Given the description of an element on the screen output the (x, y) to click on. 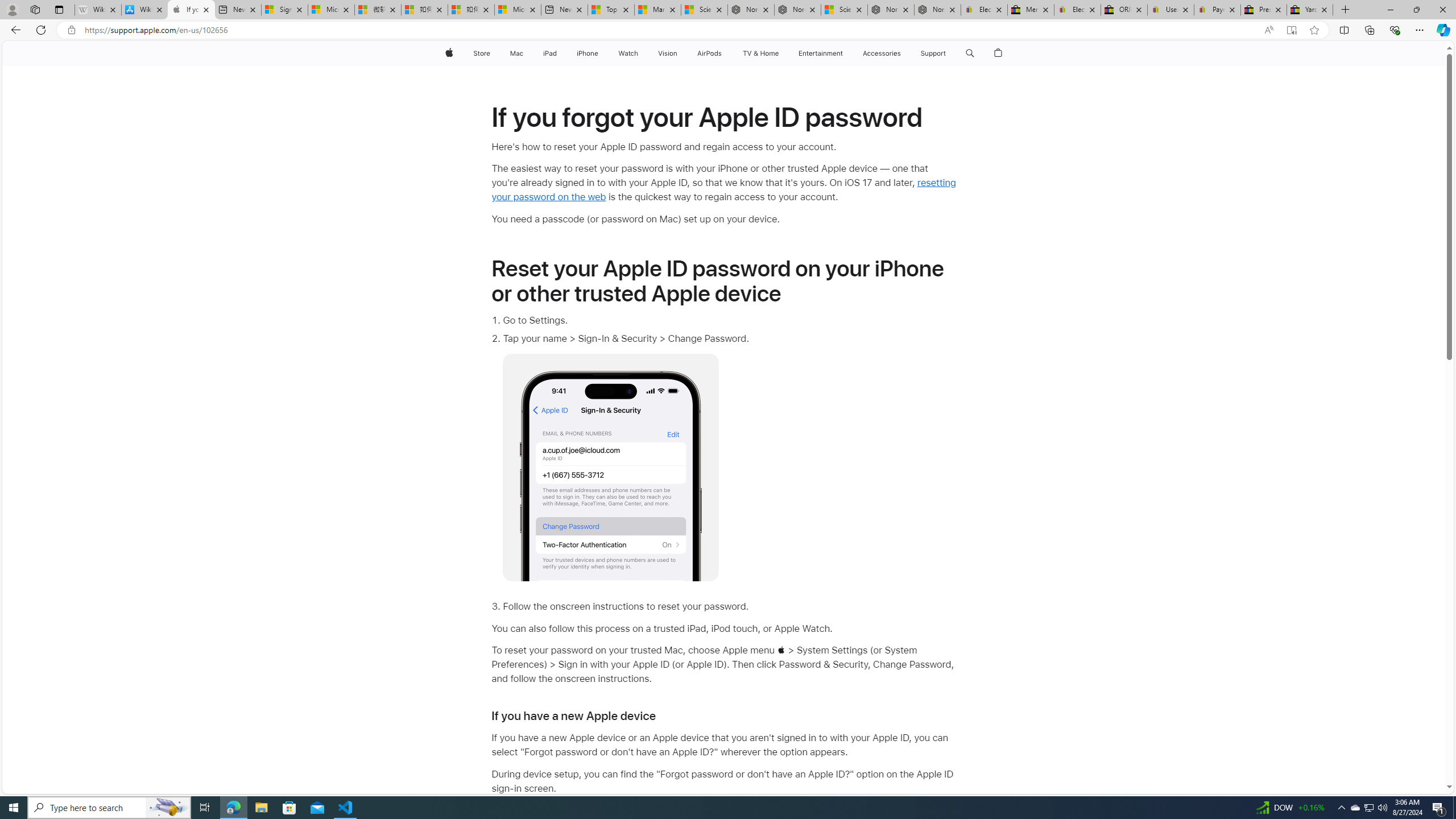
Vision menu (678, 53)
Watch menu (640, 53)
Store menu (492, 53)
AirPods (709, 53)
Class: globalnav-submenu-trigger-item (948, 53)
TV and Home (759, 53)
TV & Home (759, 53)
Mac (516, 53)
